Given the description of an element on the screen output the (x, y) to click on. 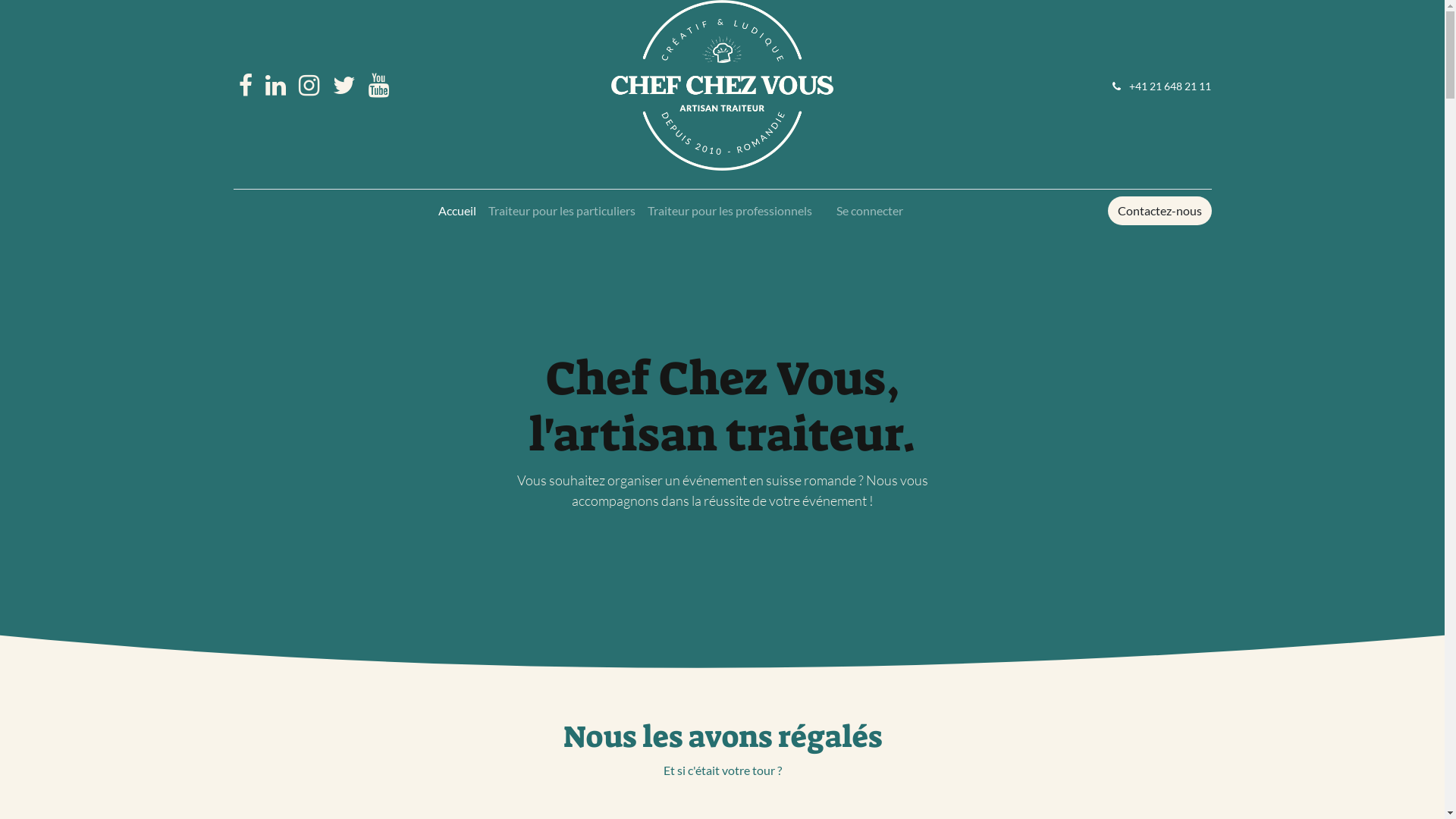
Se connecter Element type: text (868, 210)
Traiteur pour les professionnels Element type: text (729, 210)
Accueil Element type: text (457, 210)
Traiteur pour les particuliers Element type: text (561, 210)
Contactez-nous Element type: text (1159, 210)
